Given the description of an element on the screen output the (x, y) to click on. 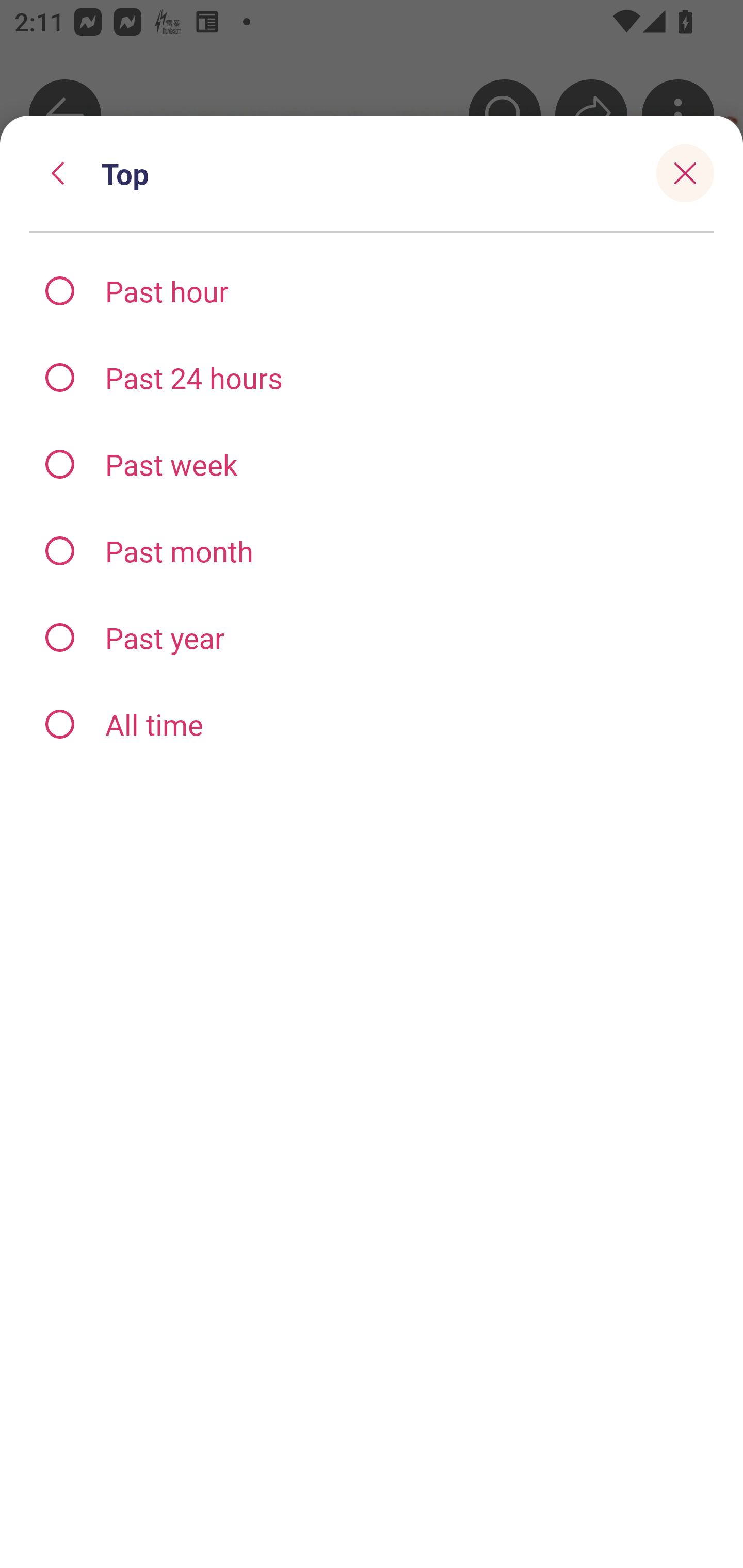
Close sheet (684, 173)
Past hour (371, 290)
Past 24 hours (371, 376)
Past week (371, 464)
Past month (371, 551)
Past year (371, 637)
All time (371, 723)
